Given the description of an element on the screen output the (x, y) to click on. 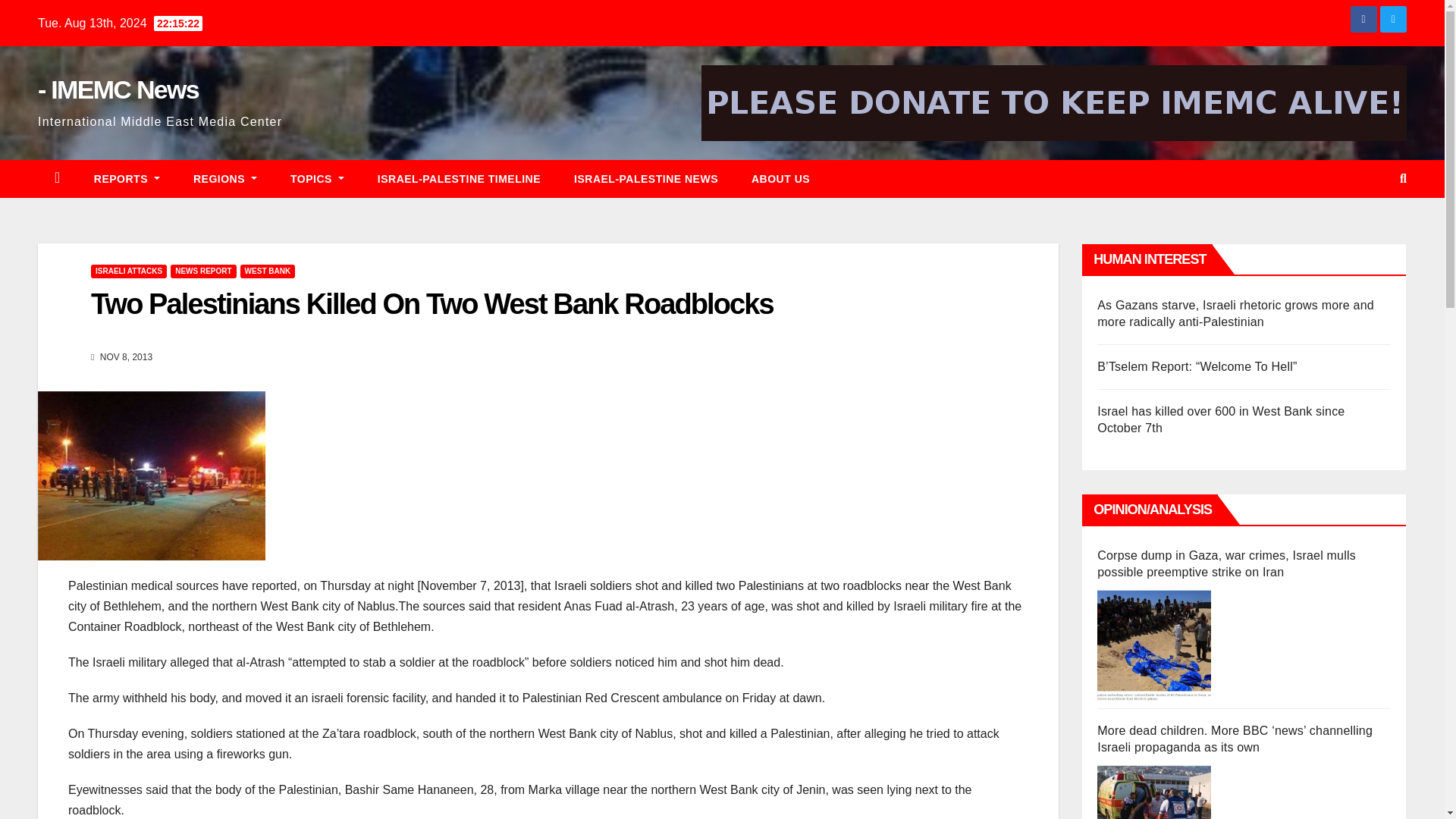
- IMEMC News (117, 89)
REGIONS (224, 178)
REPORTS (126, 178)
TOPICS (317, 178)
Regions (224, 178)
Reports (126, 178)
